Given the description of an element on the screen output the (x, y) to click on. 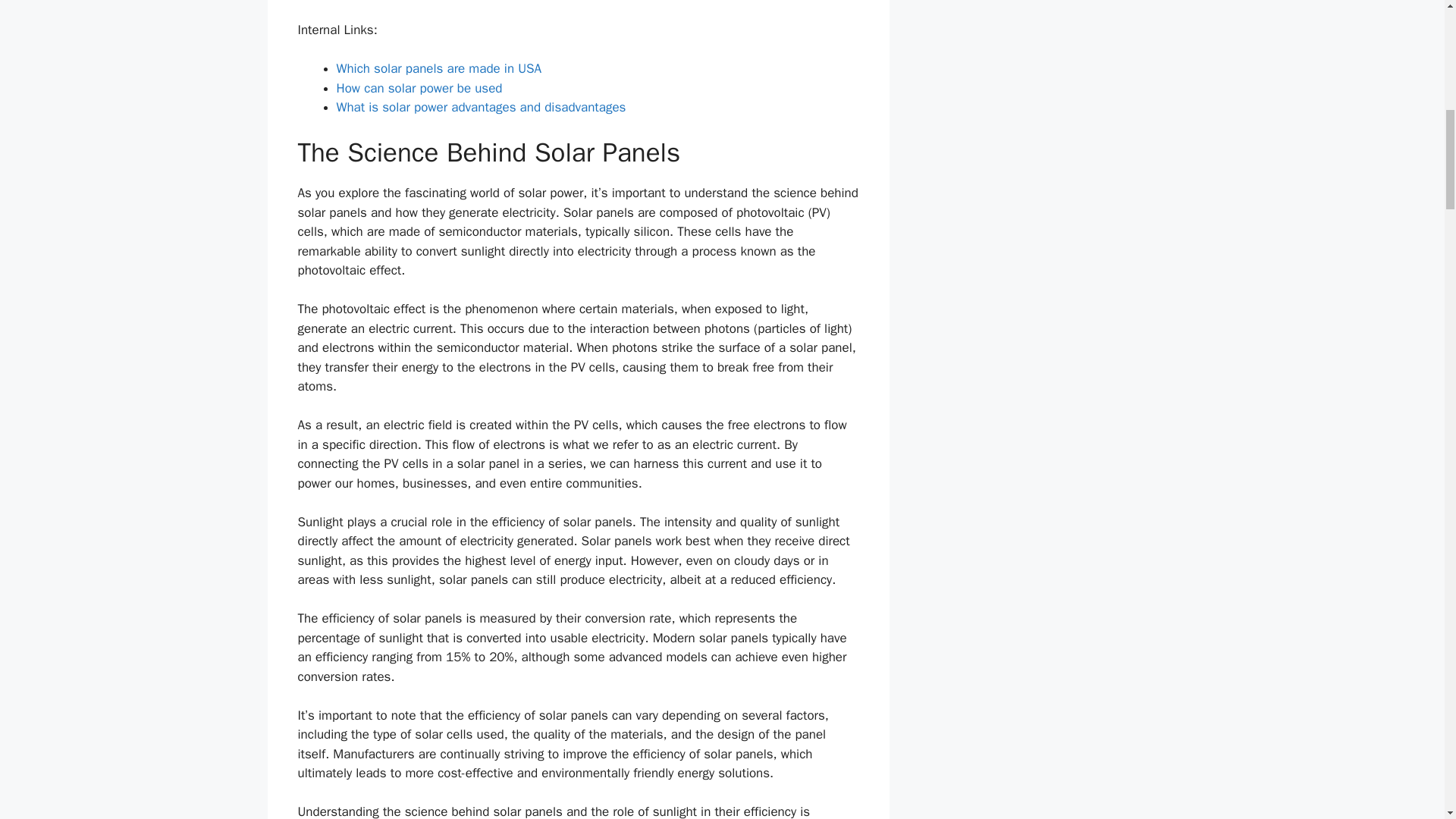
How can solar power be used (419, 88)
What is solar power advantages and disadvantages (481, 107)
Which solar panels are made in USA (438, 68)
